Given the description of an element on the screen output the (x, y) to click on. 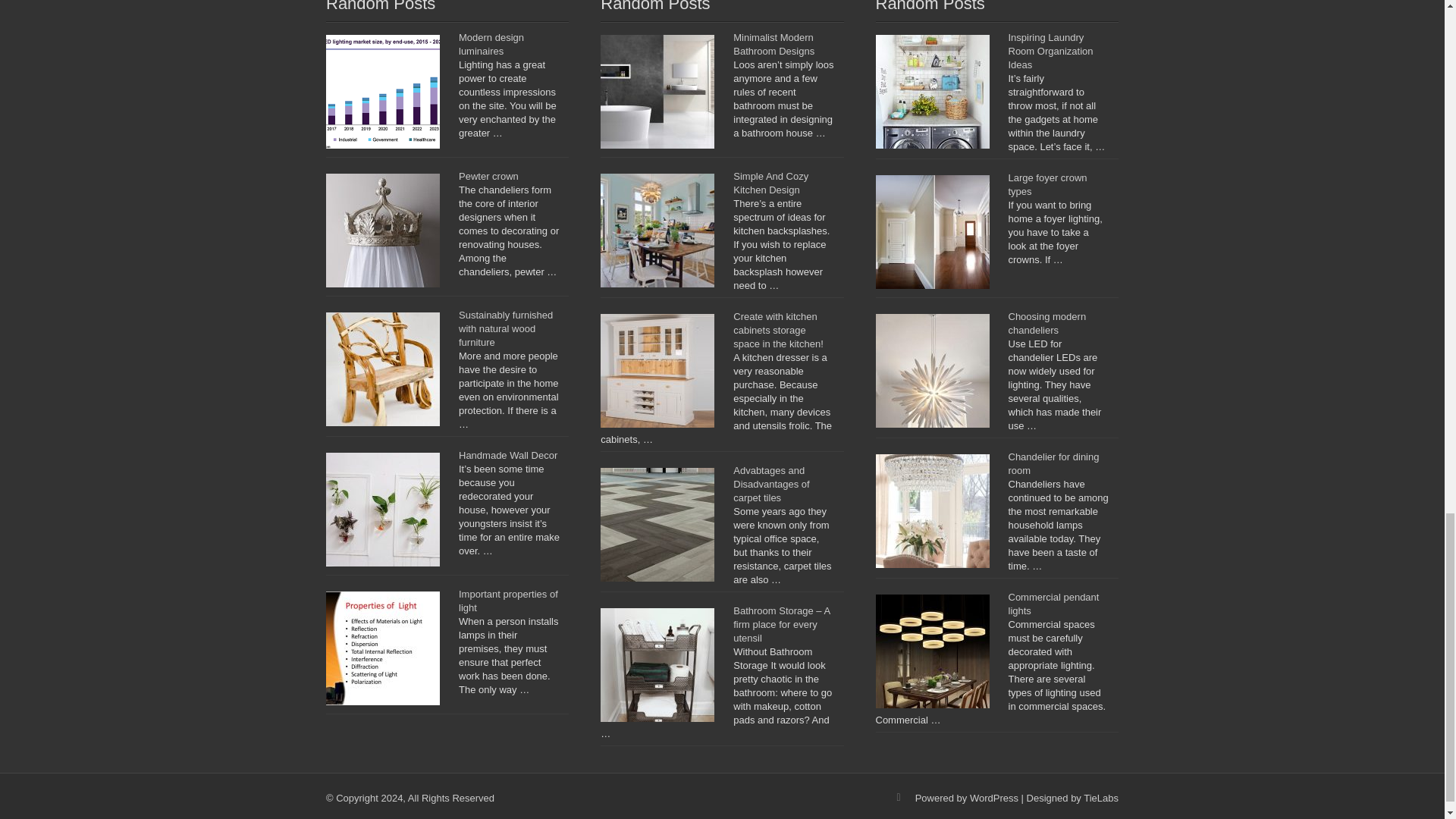
Create with kitchen cabinets storage space in the kitchen! (778, 330)
Minimalist Modern Bathroom Designs (773, 43)
Simple And Cozy Kitchen Design (770, 182)
Sustainably furnished with natural wood furniture (505, 328)
Important properties of light (507, 600)
Modern design luminaires (491, 43)
Inspiring Laundry Room Organization Ideas (1051, 50)
Handmade Wall Decor (507, 455)
Pewter crown (488, 175)
Advabtages and Disadvantages of carpet tiles (771, 484)
